Given the description of an element on the screen output the (x, y) to click on. 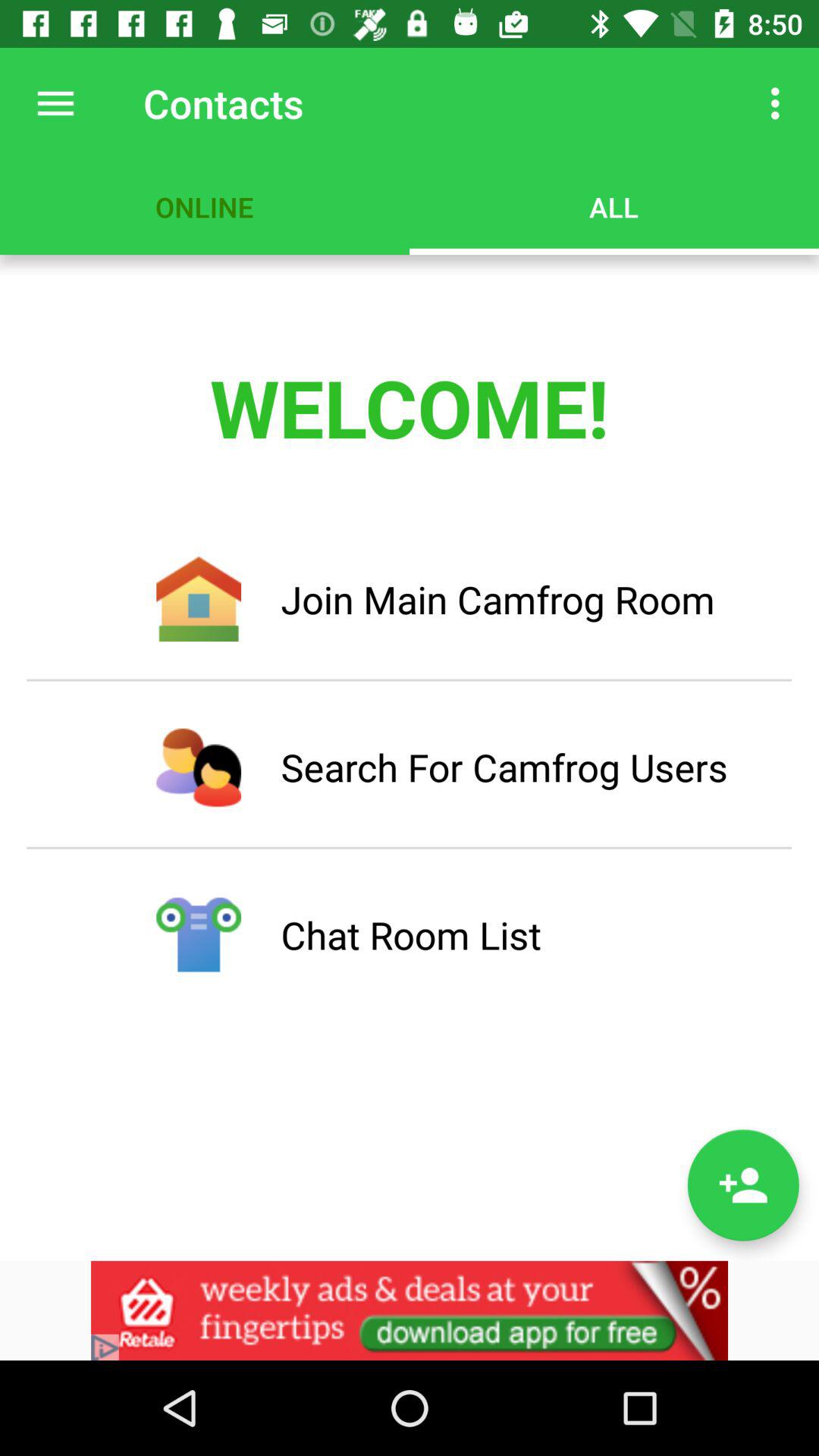
click all (614, 206)
